Given the description of an element on the screen output the (x, y) to click on. 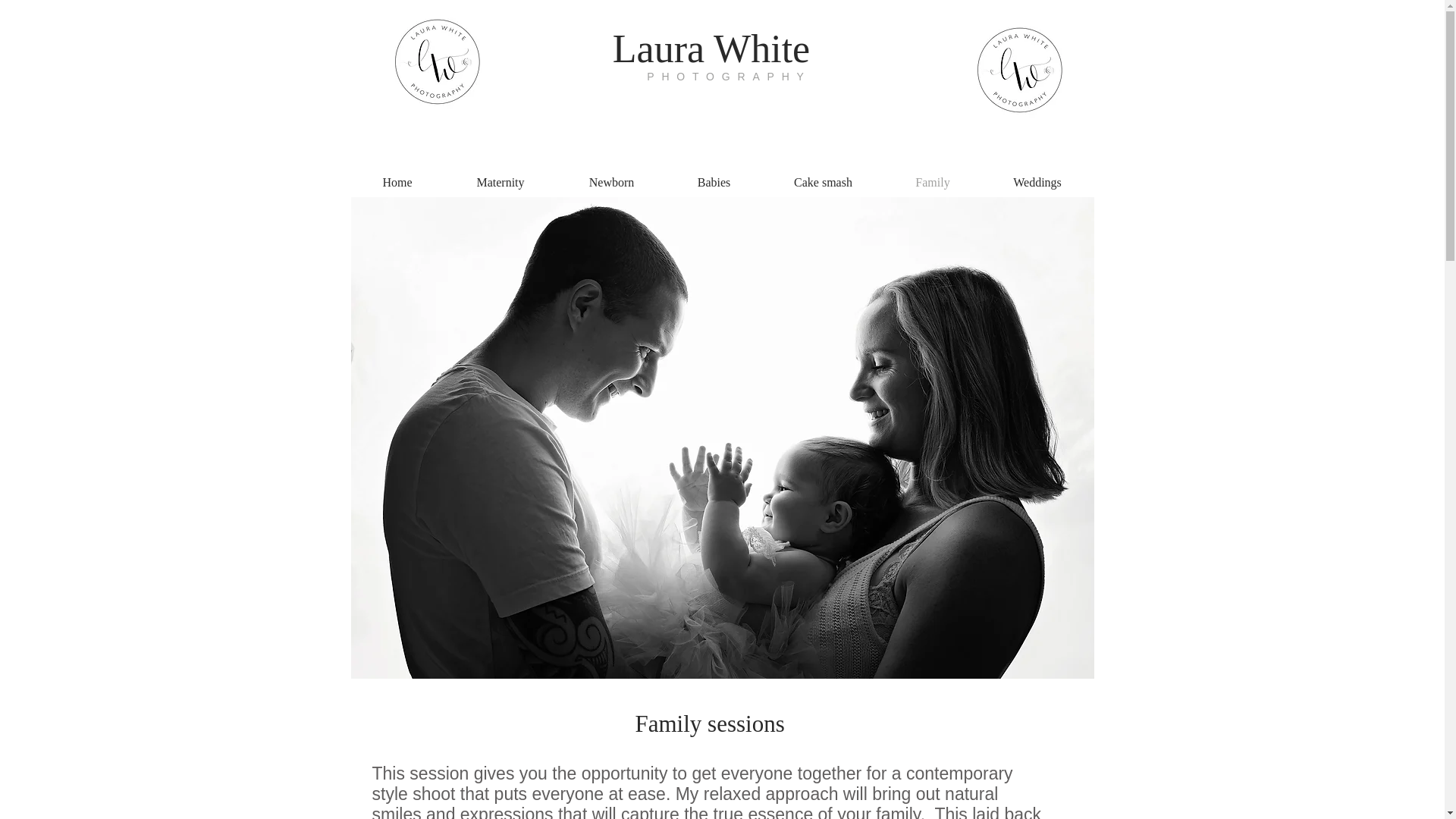
Babies (713, 182)
Newborn (610, 182)
Family (931, 182)
Maternity (500, 182)
Home (397, 182)
Weddings (1037, 182)
PHOTOGRAPHY (728, 76)
Cake smash (822, 182)
